Given the description of an element on the screen output the (x, y) to click on. 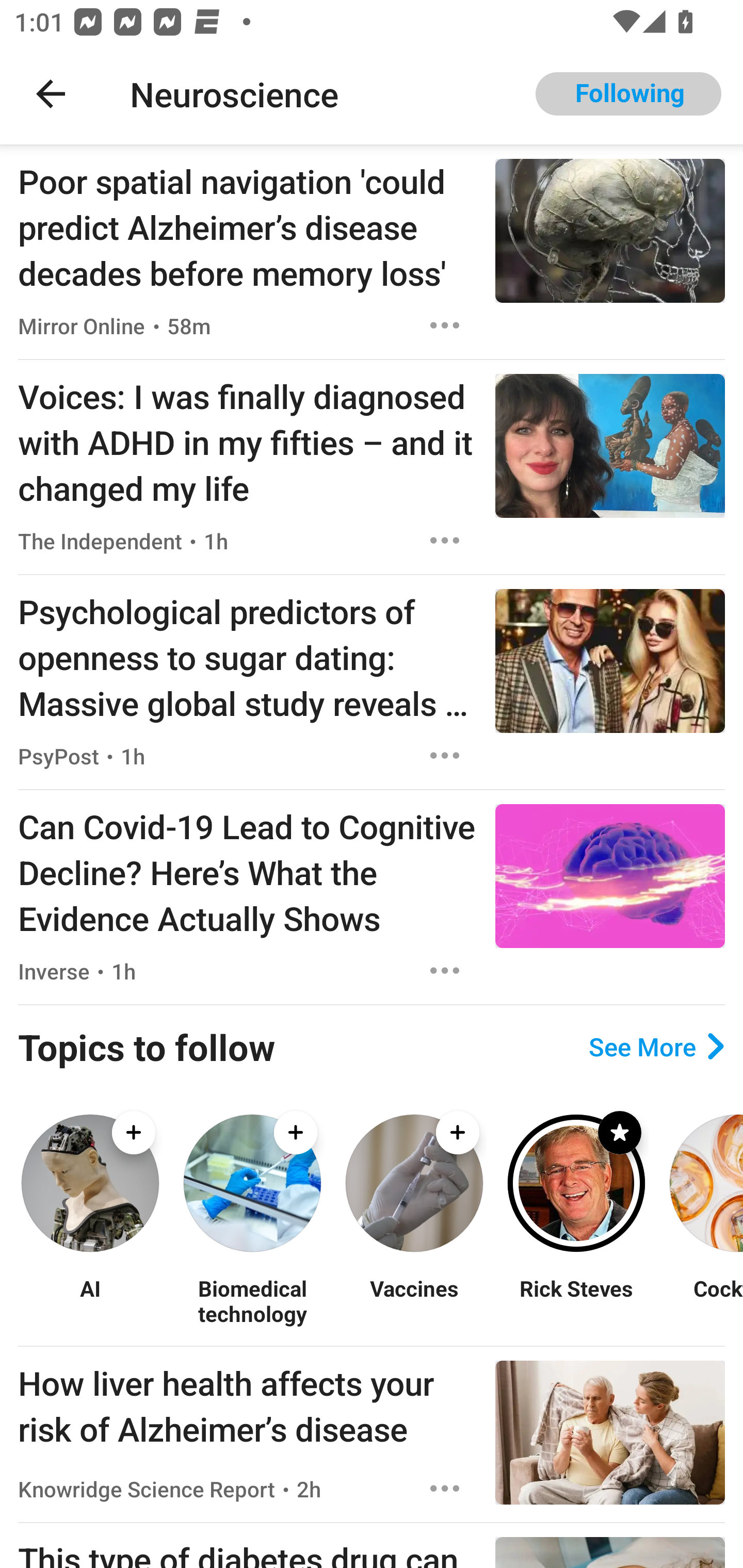
Navigate up (50, 93)
Following (628, 94)
Options (444, 325)
Options (444, 540)
Options (444, 755)
Options (444, 970)
See More (656, 1046)
AI (89, 1300)
Biomedical technology (251, 1300)
Vaccines (413, 1300)
Rick Steves (575, 1300)
Options (444, 1488)
